Given the description of an element on the screen output the (x, y) to click on. 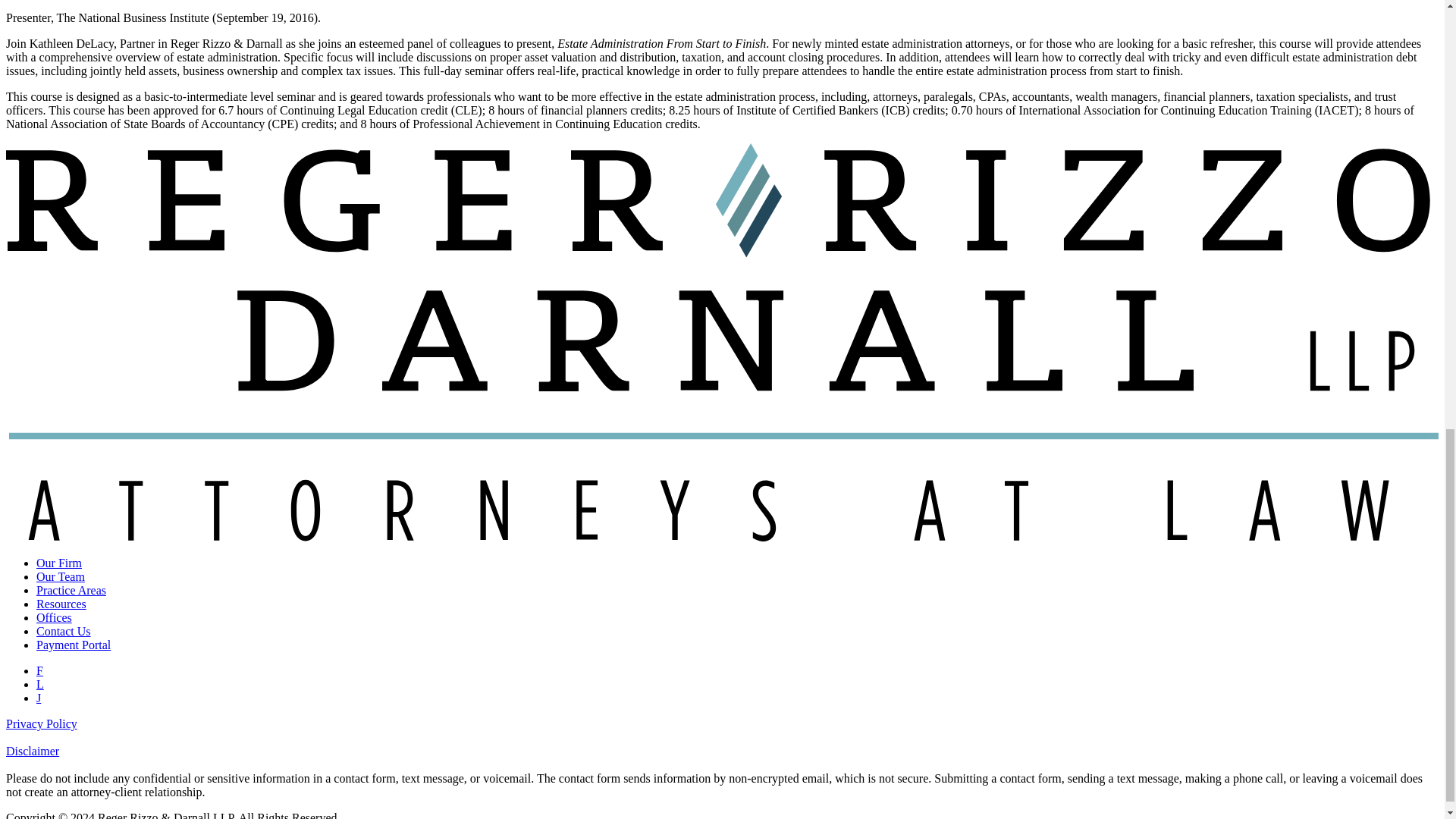
Resources (60, 603)
Our Firm (58, 562)
Practice Areas (71, 590)
Offices (53, 617)
Our Team (60, 576)
